Given the description of an element on the screen output the (x, y) to click on. 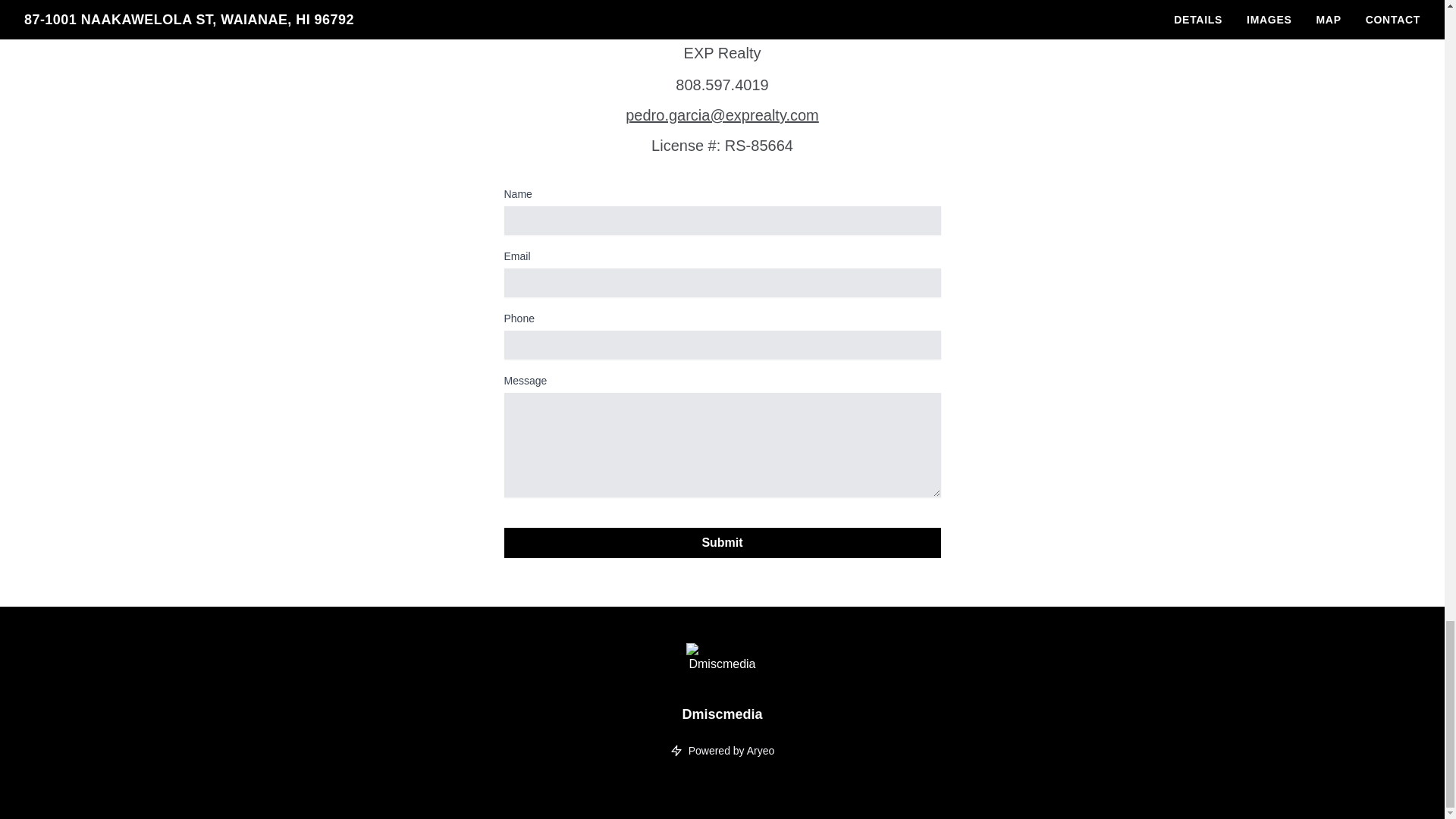
Powered by Aryeo (721, 750)
Phone Pedro Garcia (721, 84)
Dmiscmedia (721, 707)
Dmiscmedia (721, 660)
Email Pedro Garcia (721, 114)
